Given the description of an element on the screen output the (x, y) to click on. 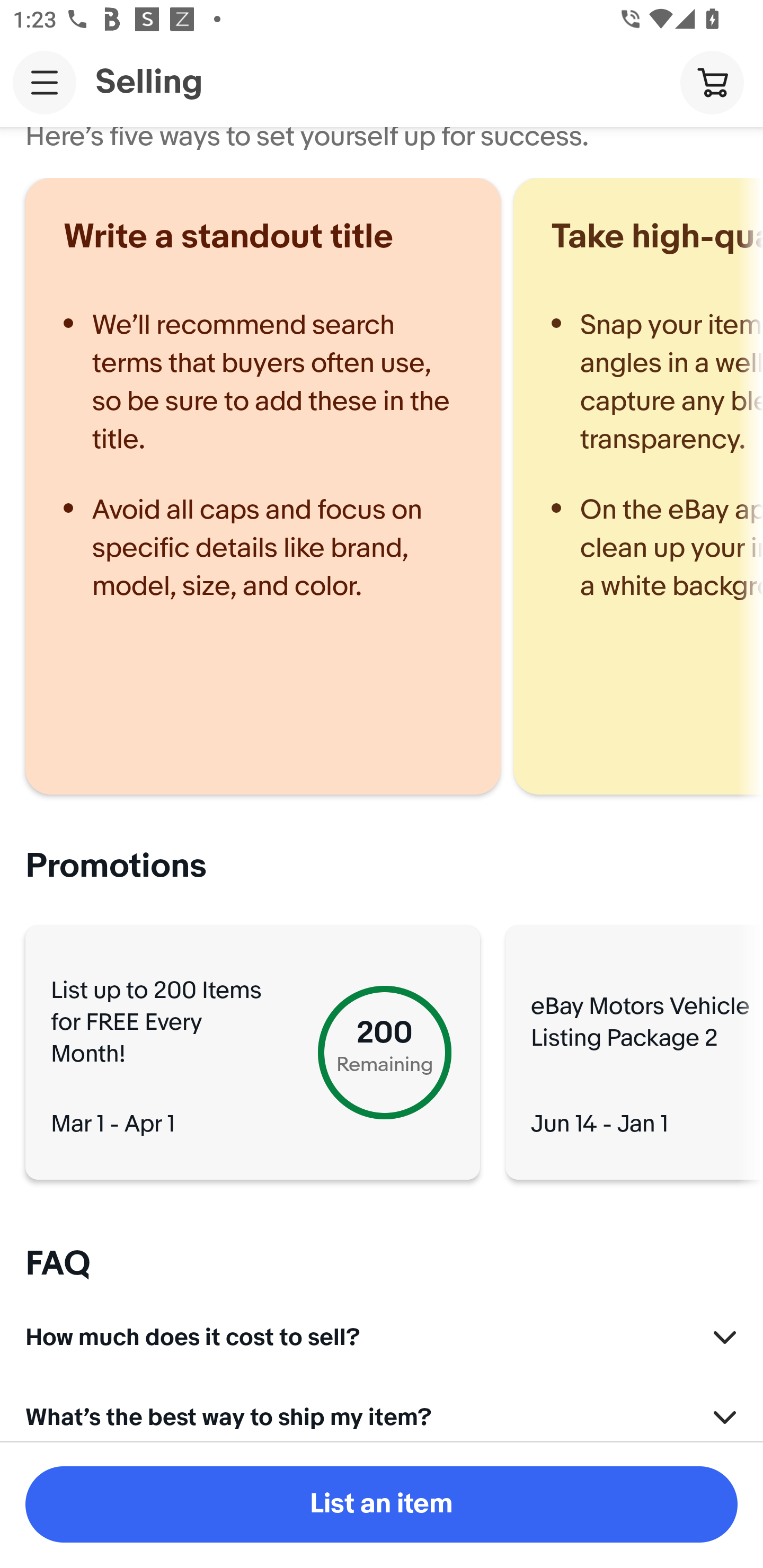
Main navigation, open (44, 82)
Cart button shopping cart (711, 81)
How much does it cost to sell? (381, 1331)
What’s the best way to ship my item? (381, 1415)
List an item (381, 1504)
